Given the description of an element on the screen output the (x, y) to click on. 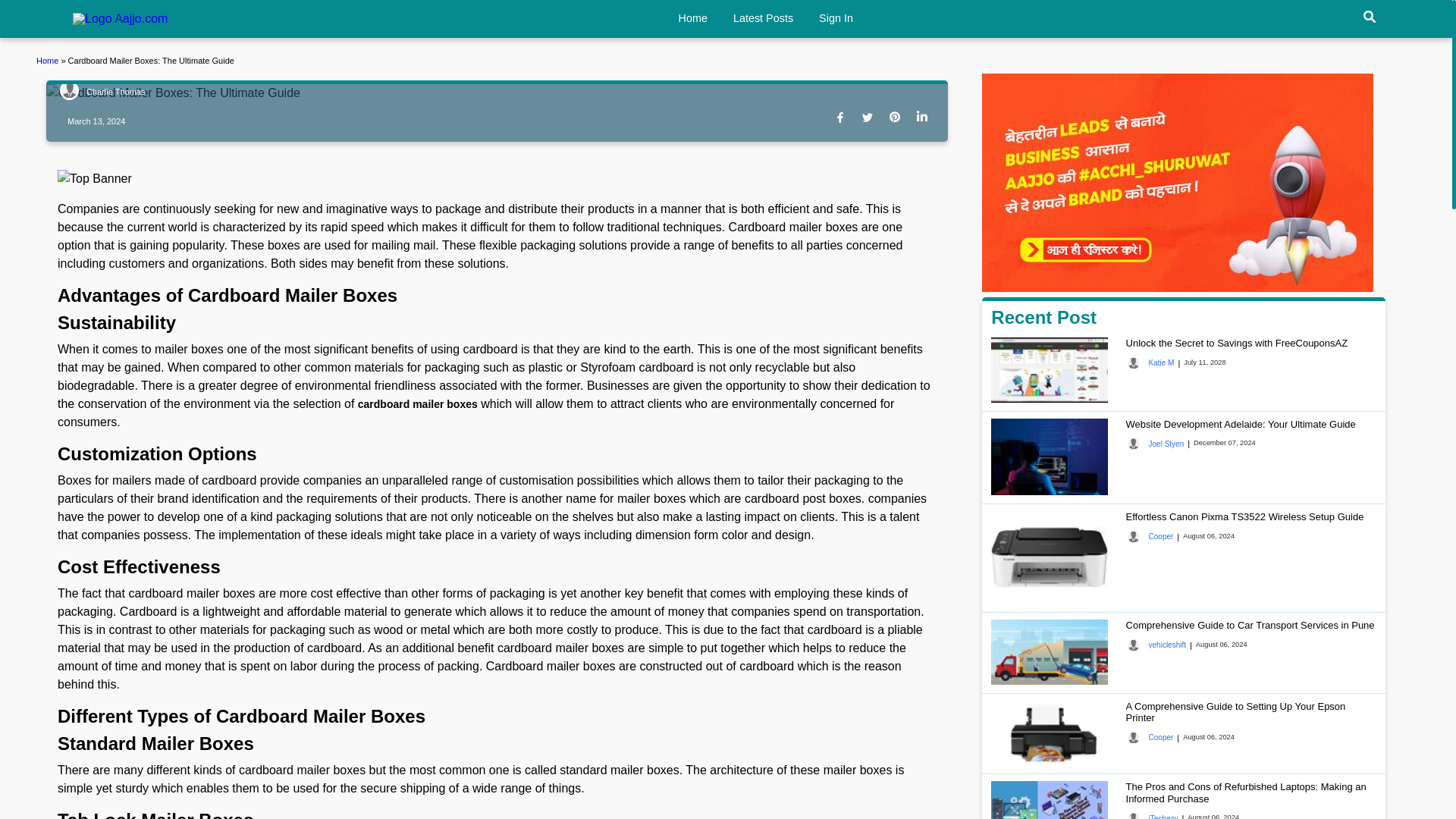
Website Development Adelaide: Your Ultimate Guide (1240, 423)
facebook (842, 118)
twitter (870, 118)
Charlie Thomas (101, 92)
Home (692, 18)
Latest Posts (763, 18)
cardboard mailer boxes (417, 404)
Blog  Home (48, 60)
Unlock the Secret to Savings with FreeCouponsAZ (1236, 342)
Comprehensive Guide to Car Transport Services in Pune (1249, 624)
Katie M (1149, 363)
Cooper (1149, 536)
Sign In (835, 18)
pinterest (897, 118)
Home (119, 19)
